Given the description of an element on the screen output the (x, y) to click on. 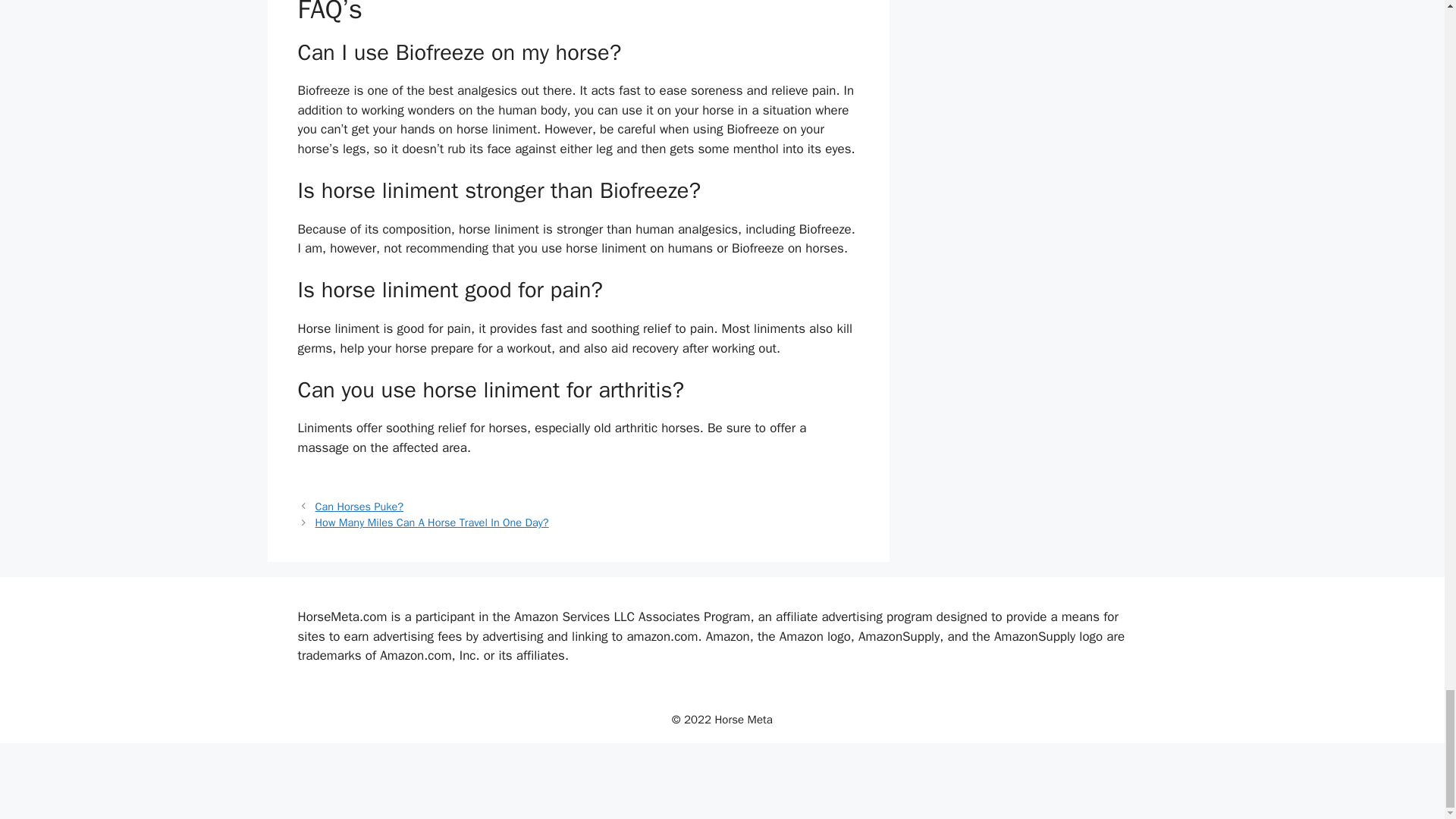
Can Horses Puke? (359, 506)
